Given the description of an element on the screen output the (x, y) to click on. 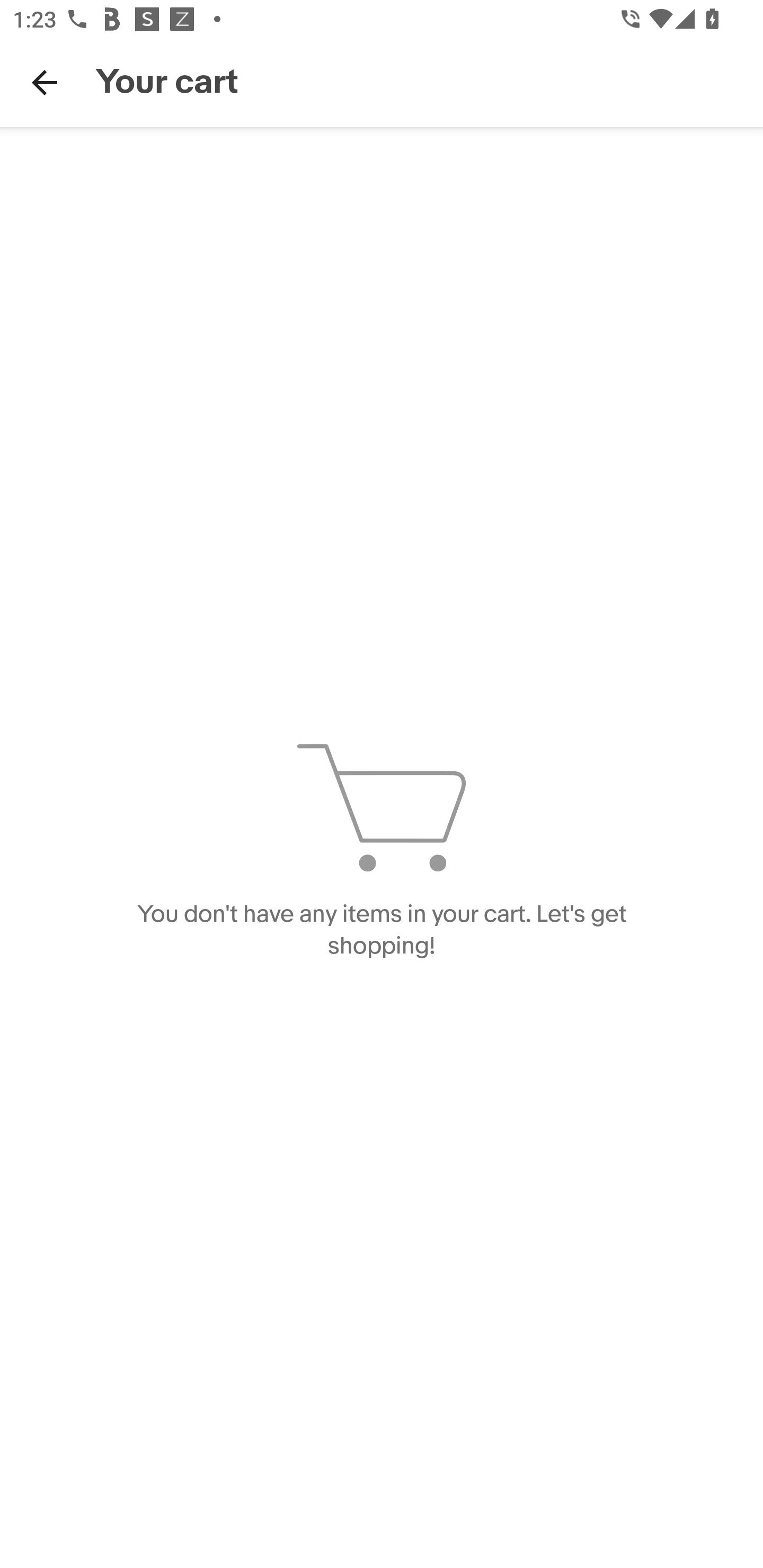
Navigate up (44, 82)
